Given the description of an element on the screen output the (x, y) to click on. 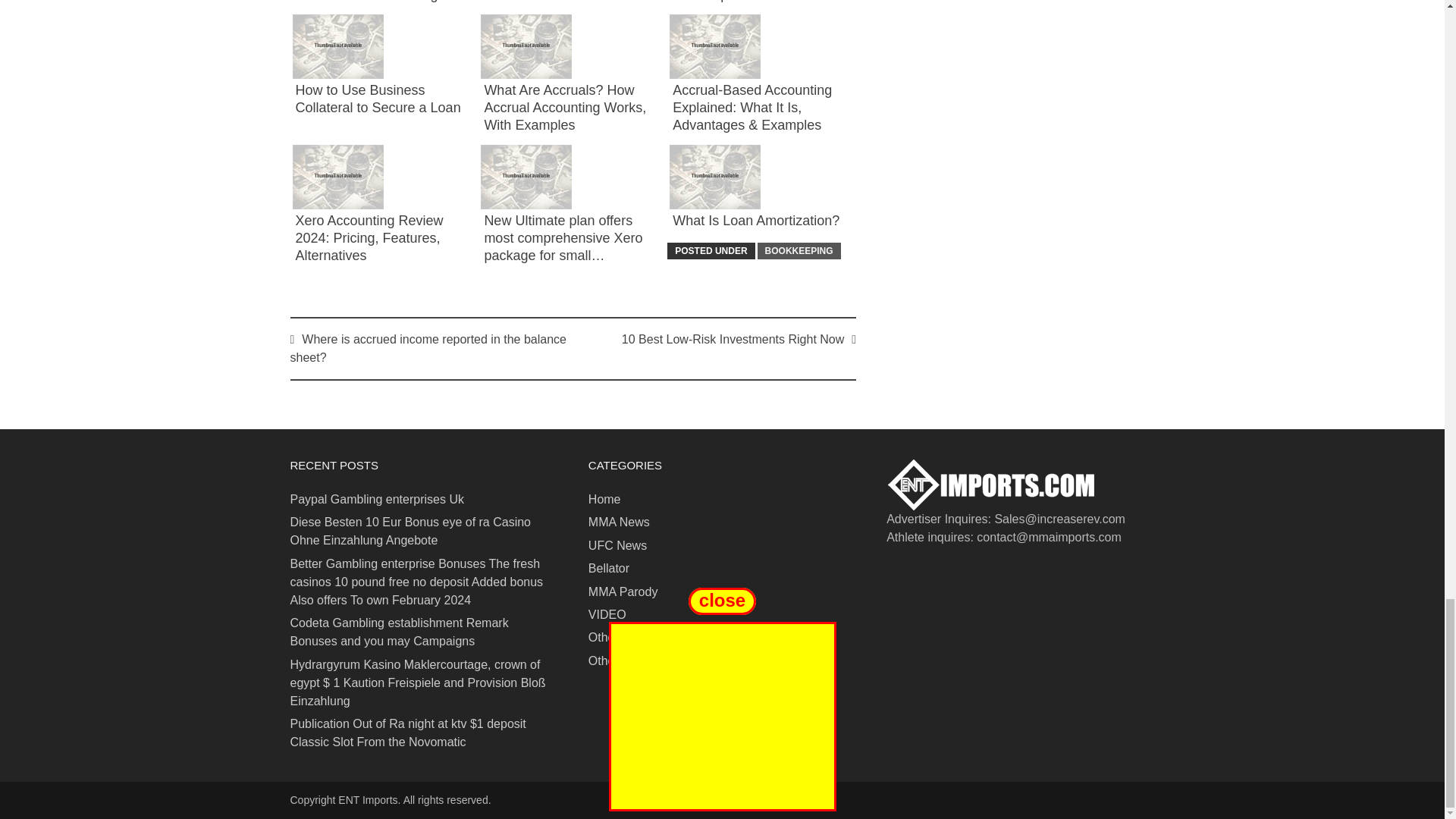
What Is Loan Amortization? (756, 220)
Where is accrued income reported in the balance sheet? (427, 347)
How to Use Business Collateral to Secure a Loan (378, 98)
BOOKKEEPING (799, 250)
Xero Accounting Review 2024: Pricing, Features, Alternatives (369, 237)
